Given the description of an element on the screen output the (x, y) to click on. 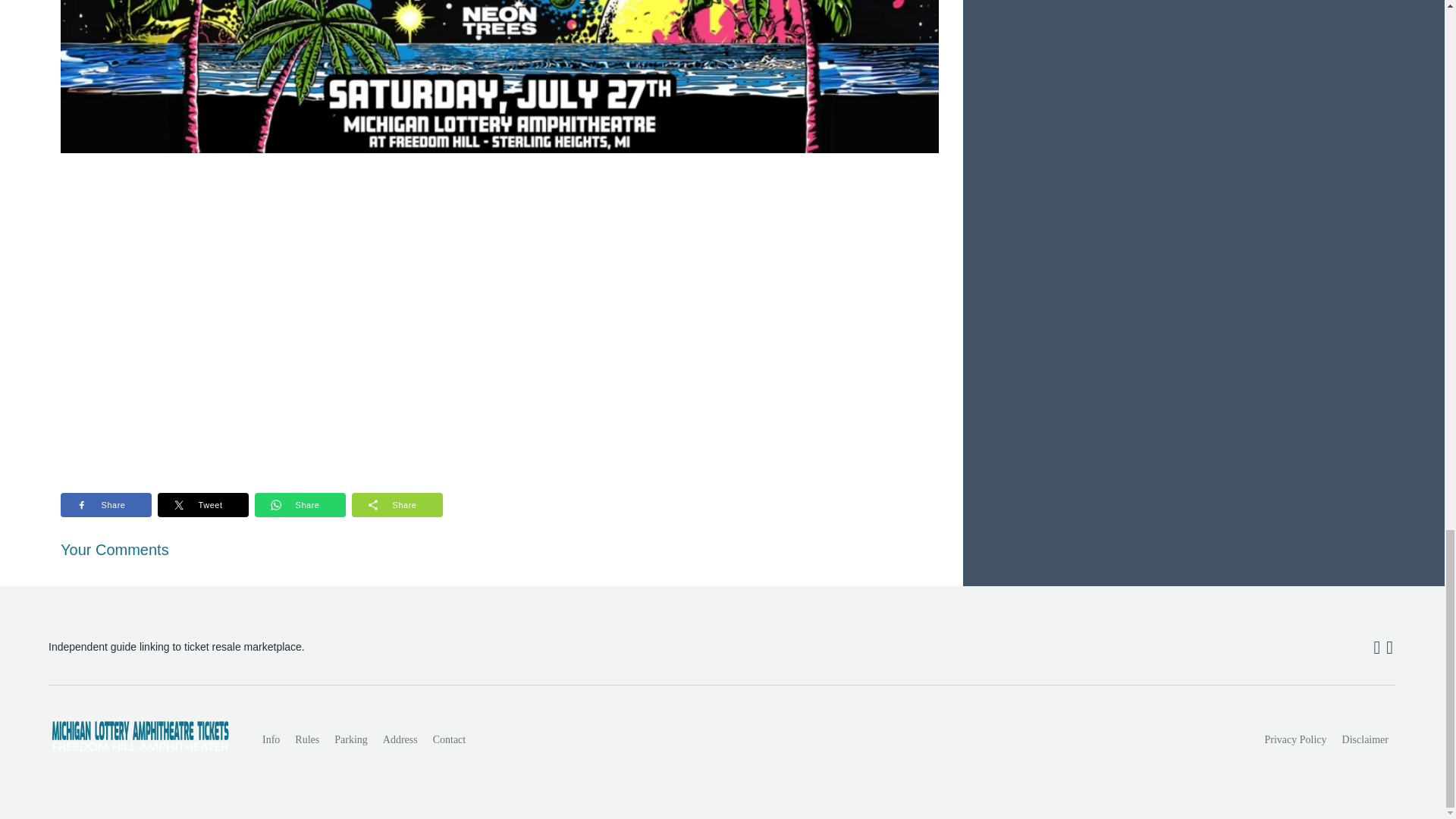
Address (400, 739)
Info (270, 739)
Rules (306, 739)
Disclaimer (1365, 739)
Contact (449, 739)
Privacy Policy (1296, 739)
Parking (350, 739)
